Given the description of an element on the screen output the (x, y) to click on. 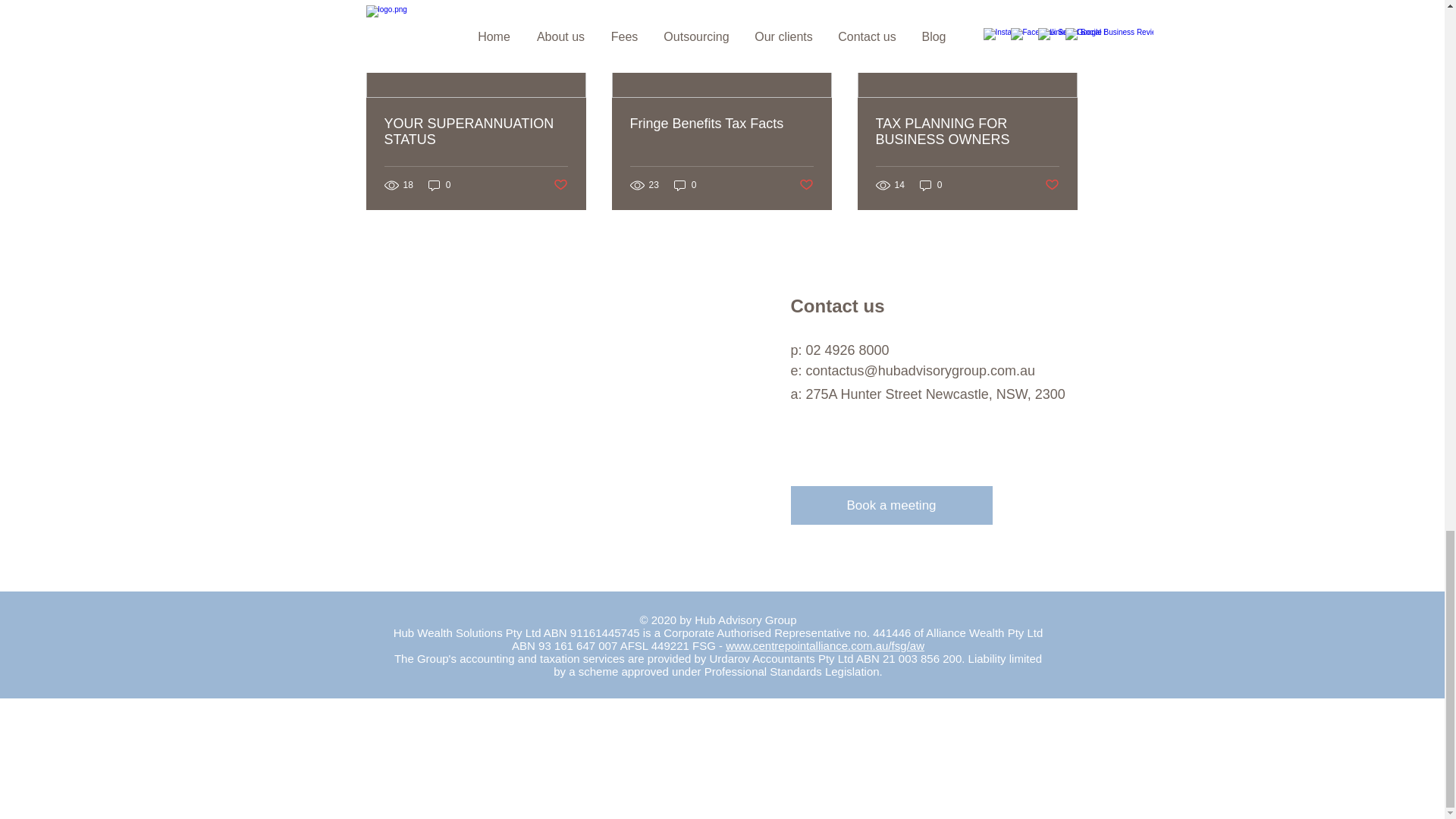
0 (439, 185)
Post not marked as liked (560, 185)
Fringe Benefits Tax Facts (720, 123)
0 (685, 185)
YOUR SUPERANNUATION STATUS (475, 132)
Post not marked as liked (806, 185)
